Given the description of an element on the screen output the (x, y) to click on. 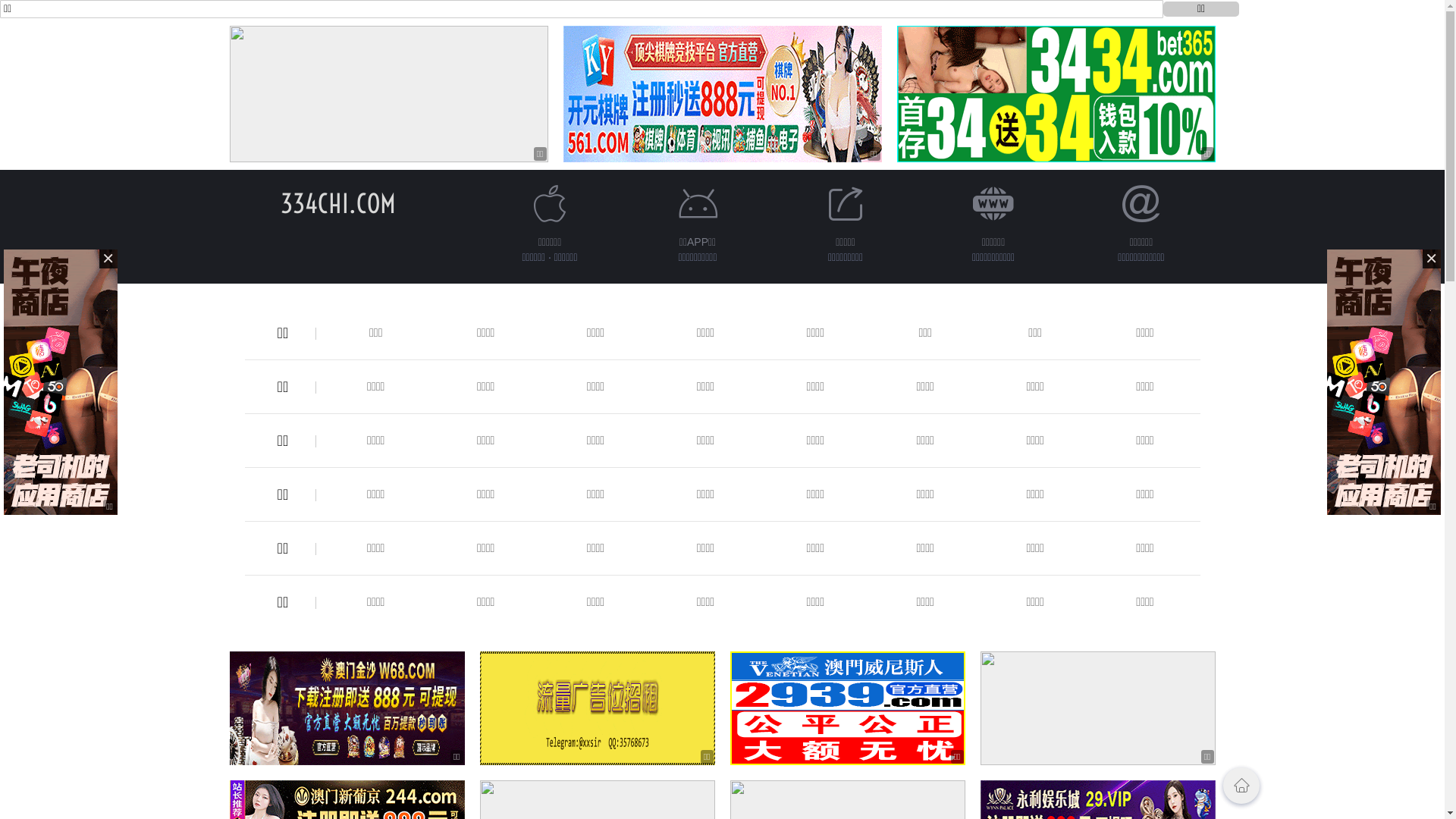
334CHI.COM Element type: text (337, 203)
